Given the description of an element on the screen output the (x, y) to click on. 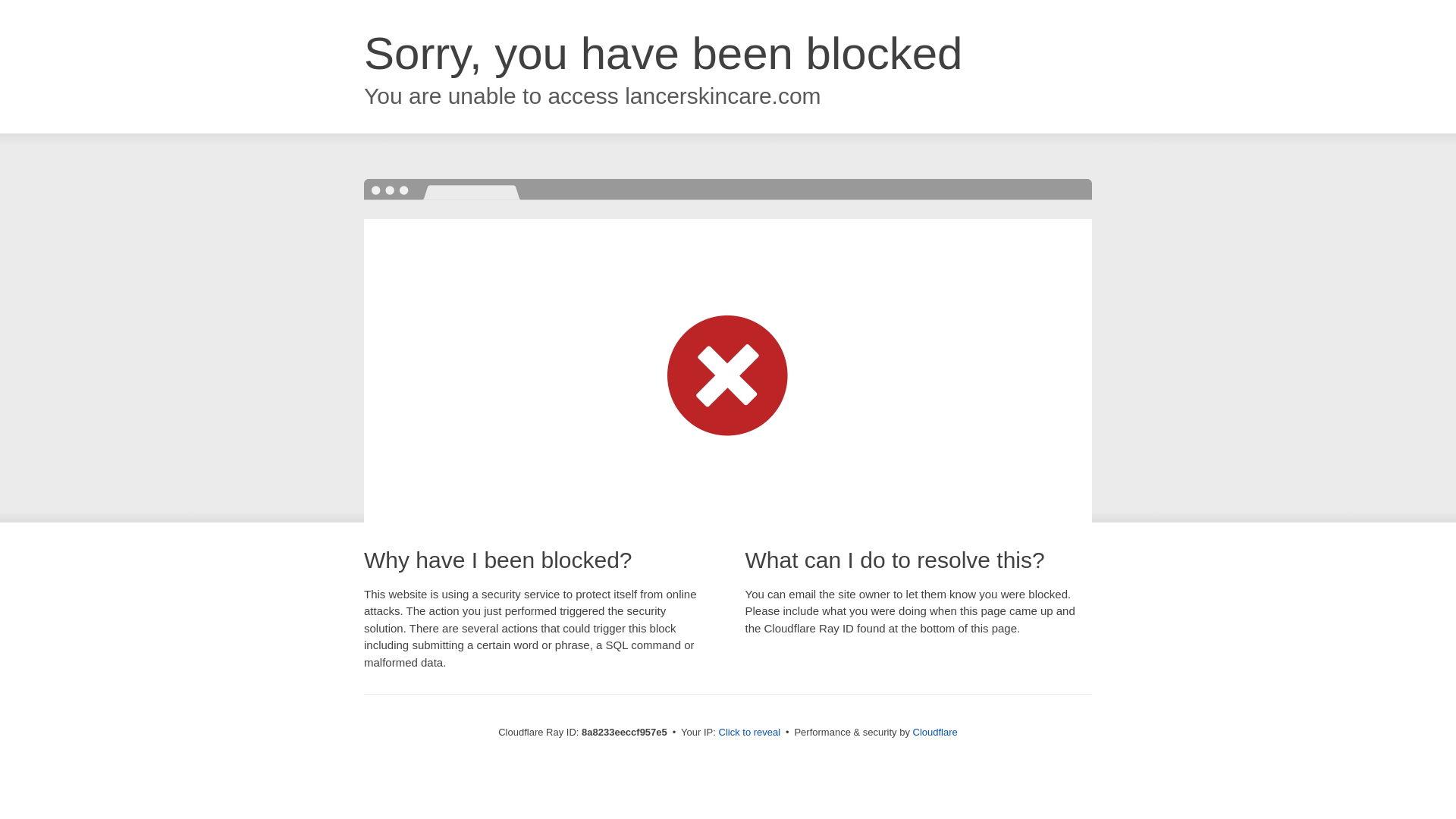
Click to reveal (749, 732)
Cloudflare (935, 731)
